Given the description of an element on the screen output the (x, y) to click on. 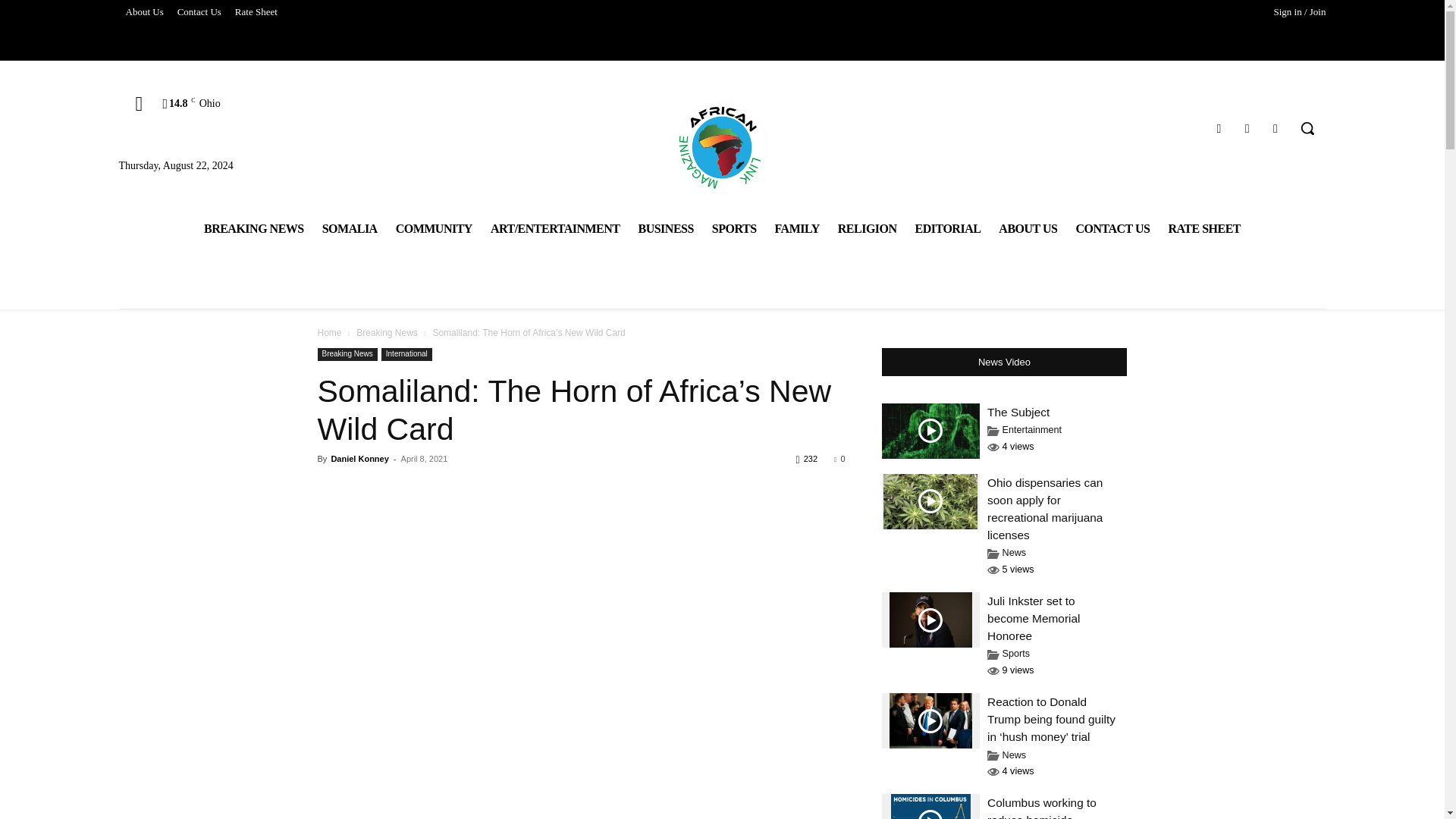
Youtube (1275, 127)
Twitter (1246, 127)
African Link Magazine (722, 146)
View all posts in Breaking News (386, 332)
Facebook (1218, 127)
African Link Magazine (721, 146)
